Given the description of an element on the screen output the (x, y) to click on. 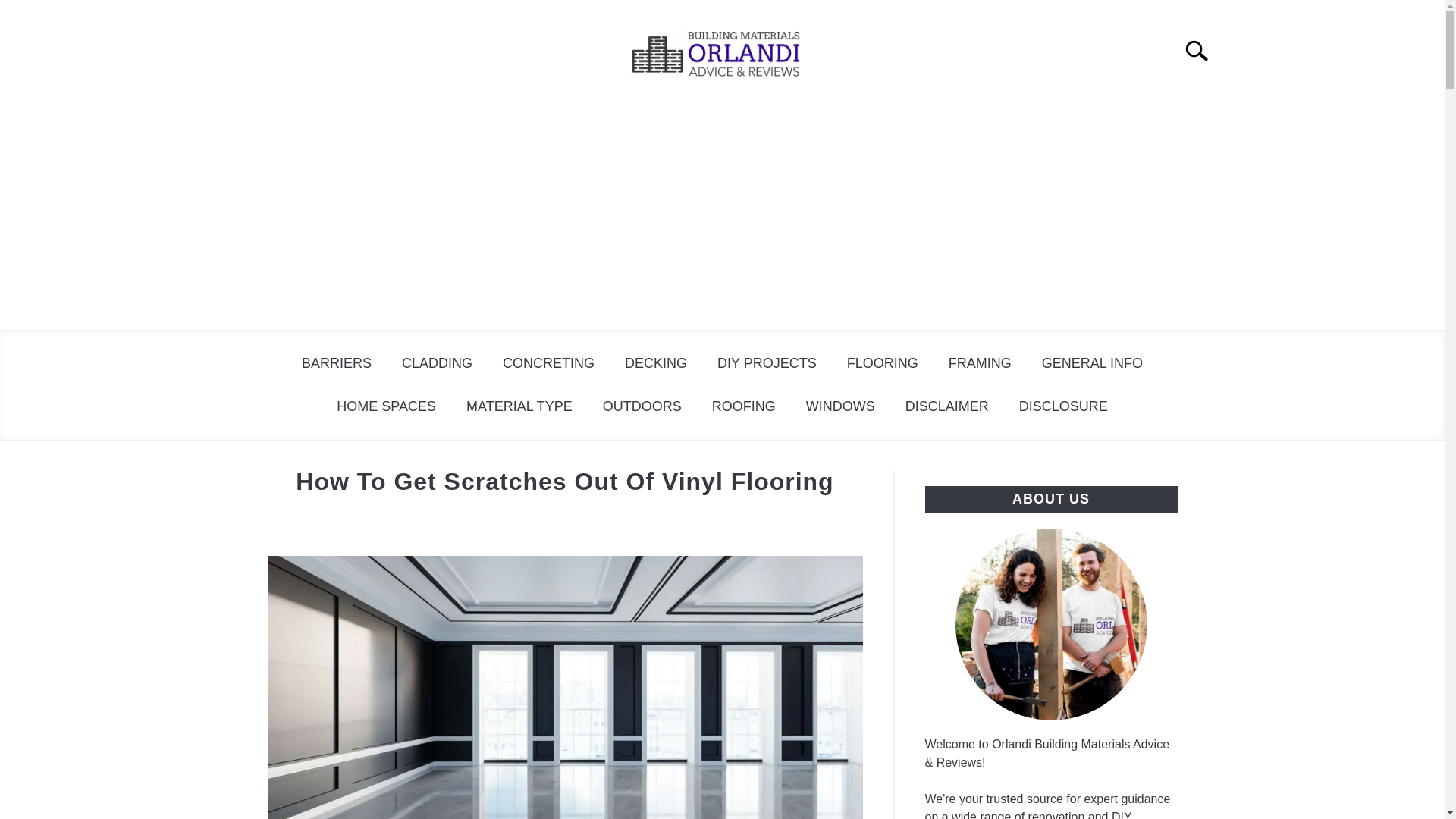
FLOORING (882, 363)
ROOFING (743, 407)
WINDOWS (839, 407)
FRAMING (979, 363)
DISCLOSURE (1063, 407)
GENERAL INFO (1091, 363)
DISCLAIMER (946, 407)
CLADDING (437, 363)
MATERIAL TYPE (519, 407)
DECKING (655, 363)
DIY PROJECTS (766, 363)
HOME SPACES (386, 407)
BARRIERS (336, 363)
Search (1203, 50)
OUTDOORS (642, 407)
